Given the description of an element on the screen output the (x, y) to click on. 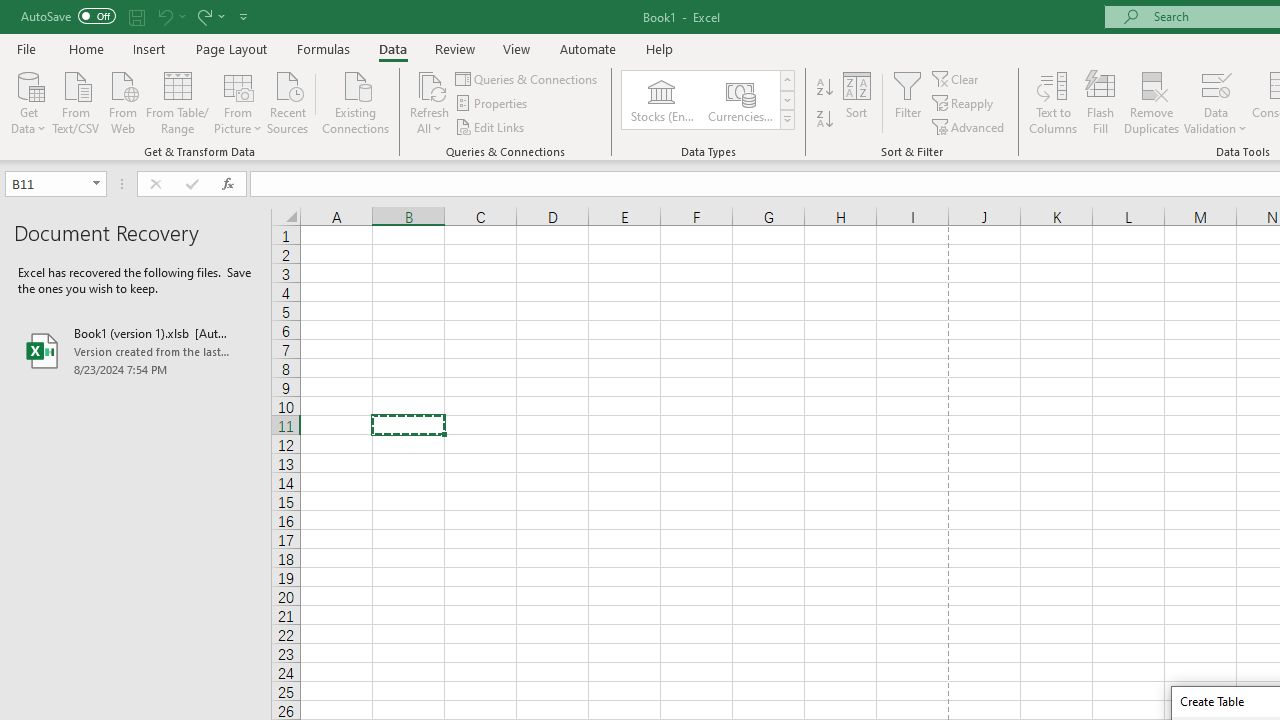
Queries & Connections (527, 78)
From Text/CSV (75, 101)
Stocks (English) (662, 100)
Sort A to Z (824, 87)
Refresh All (429, 84)
Class: NetUIImage (787, 119)
AutoSave (68, 16)
Row up (786, 79)
Flash Fill (1101, 102)
Properties (492, 103)
Text to Columns... (1053, 102)
